Given the description of an element on the screen output the (x, y) to click on. 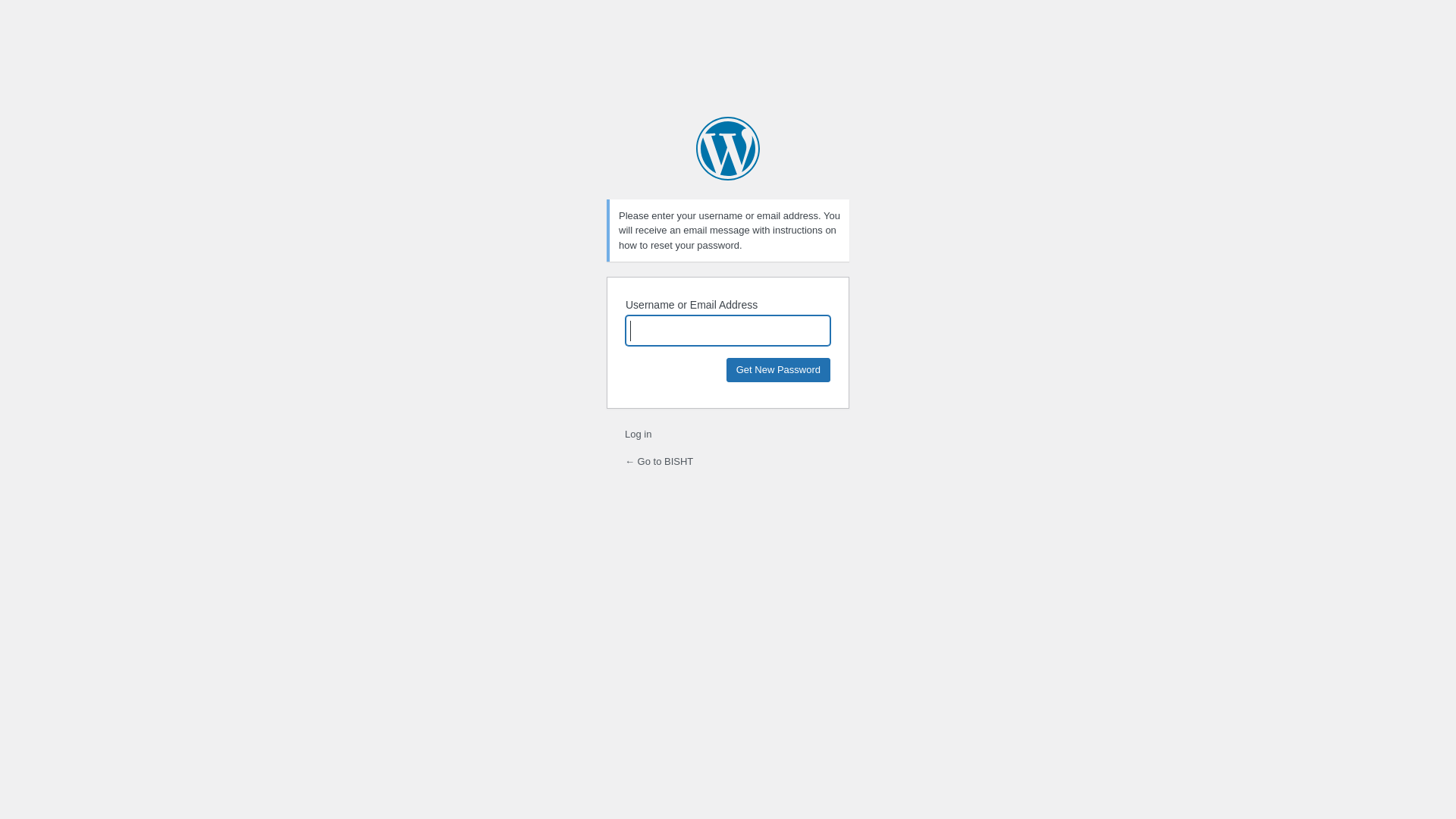
Get New Password Element type: text (778, 369)
Powered by WordPress Element type: text (727, 148)
Log in Element type: text (637, 433)
